Given the description of an element on the screen output the (x, y) to click on. 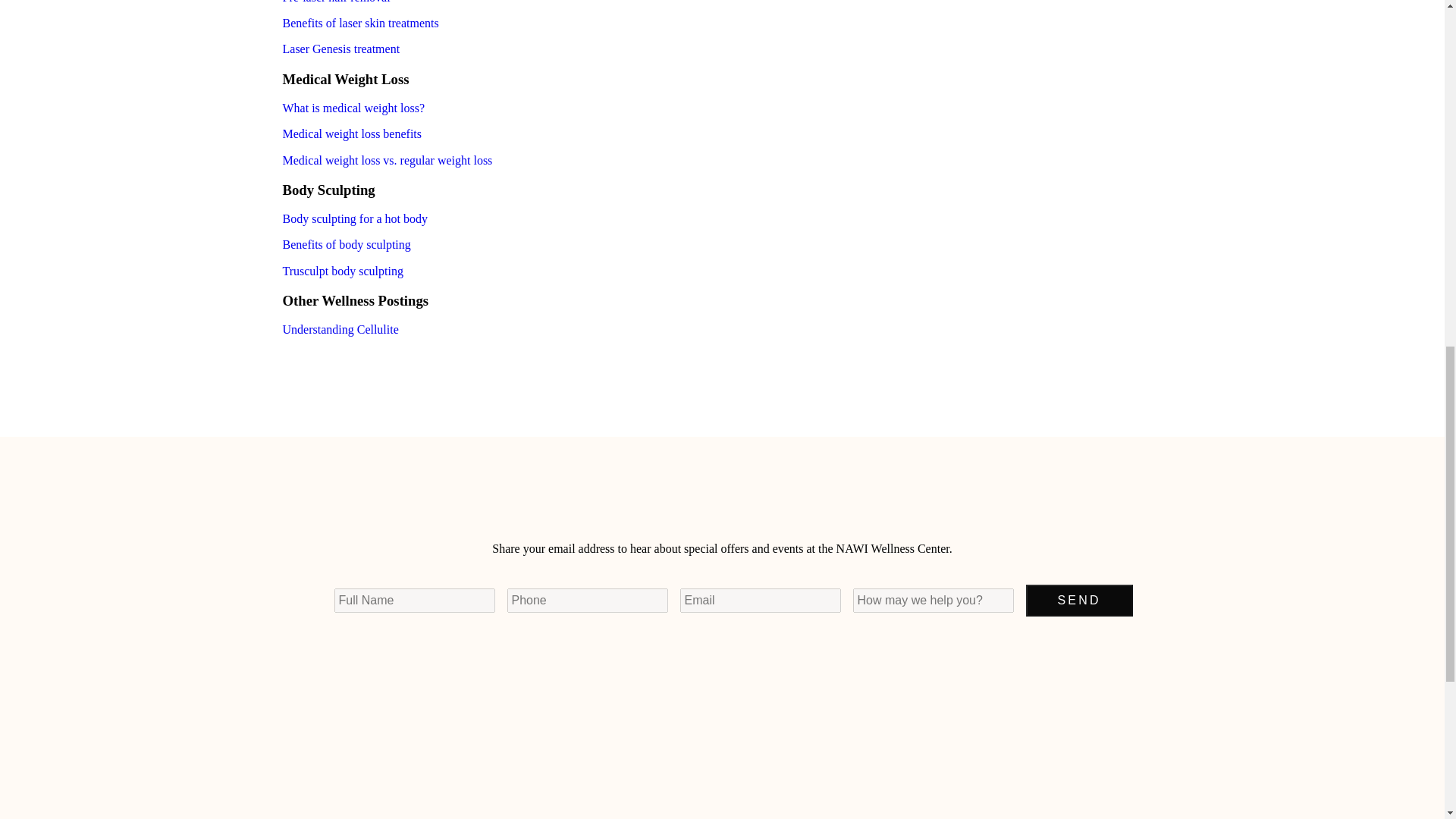
Send (1078, 600)
